Given the description of an element on the screen output the (x, y) to click on. 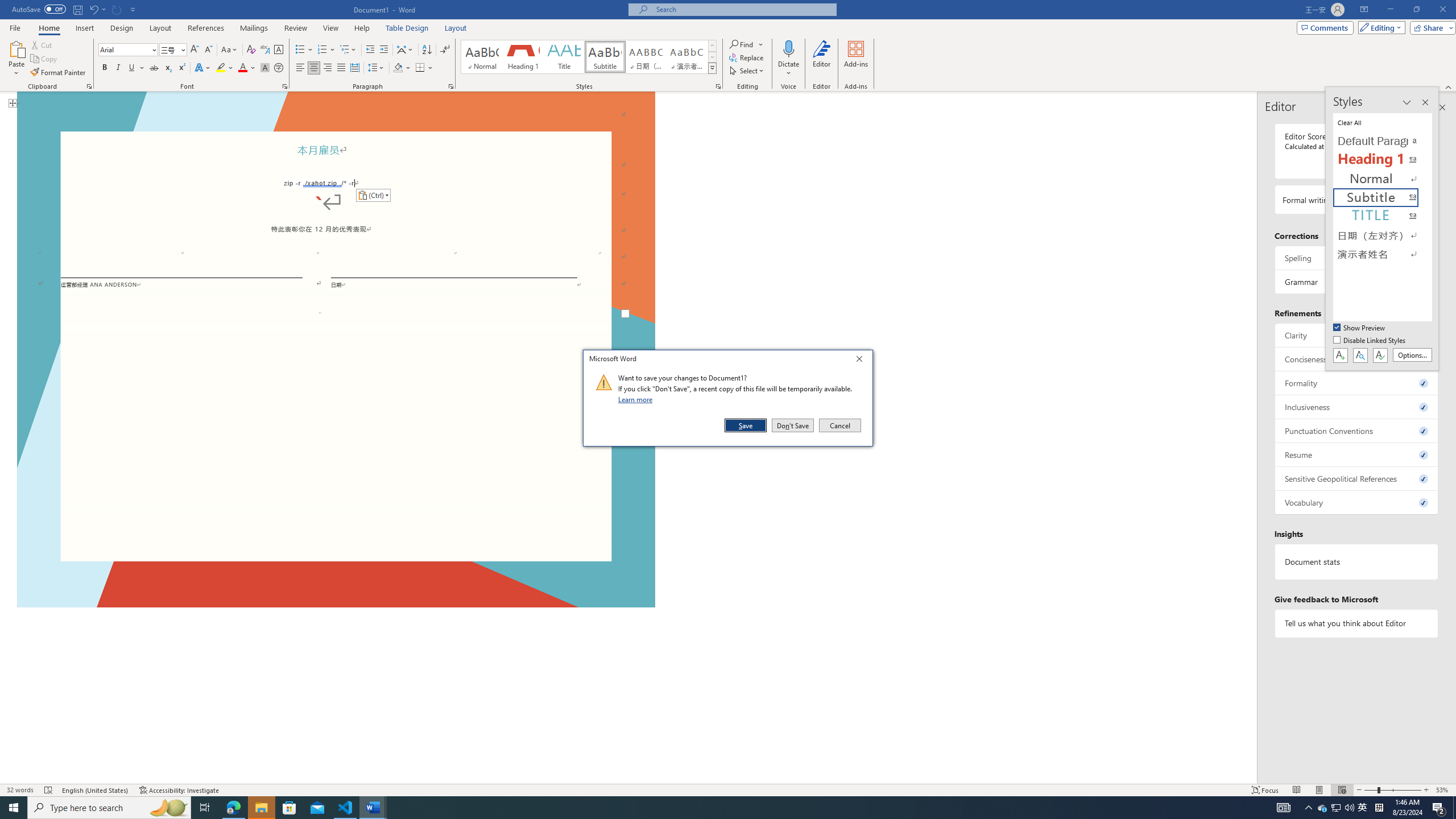
Document statistics (1356, 561)
